Given the description of an element on the screen output the (x, y) to click on. 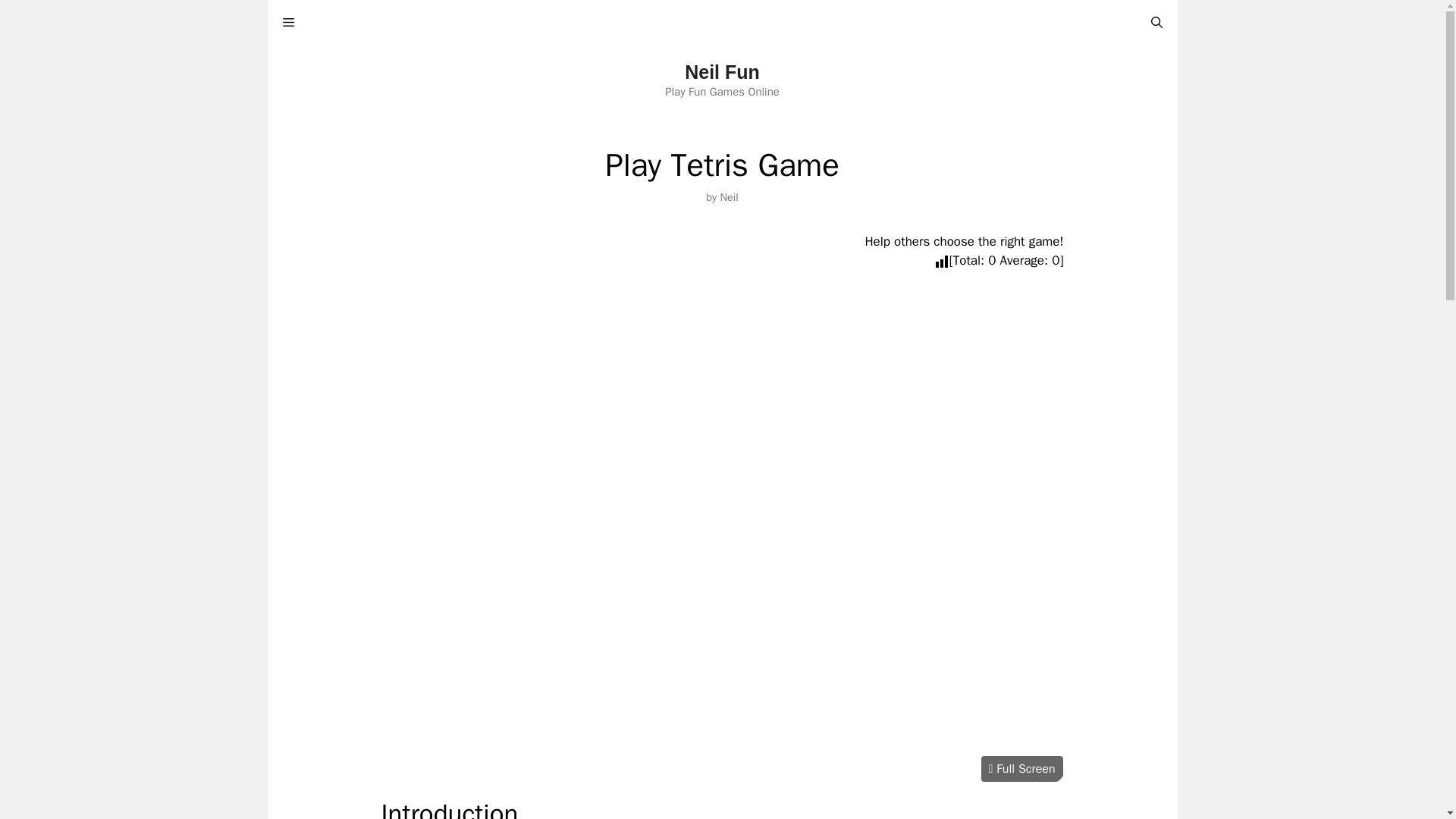
Neil Fun (722, 71)
View all posts by Neil (728, 196)
Neil (728, 196)
